Given the description of an element on the screen output the (x, y) to click on. 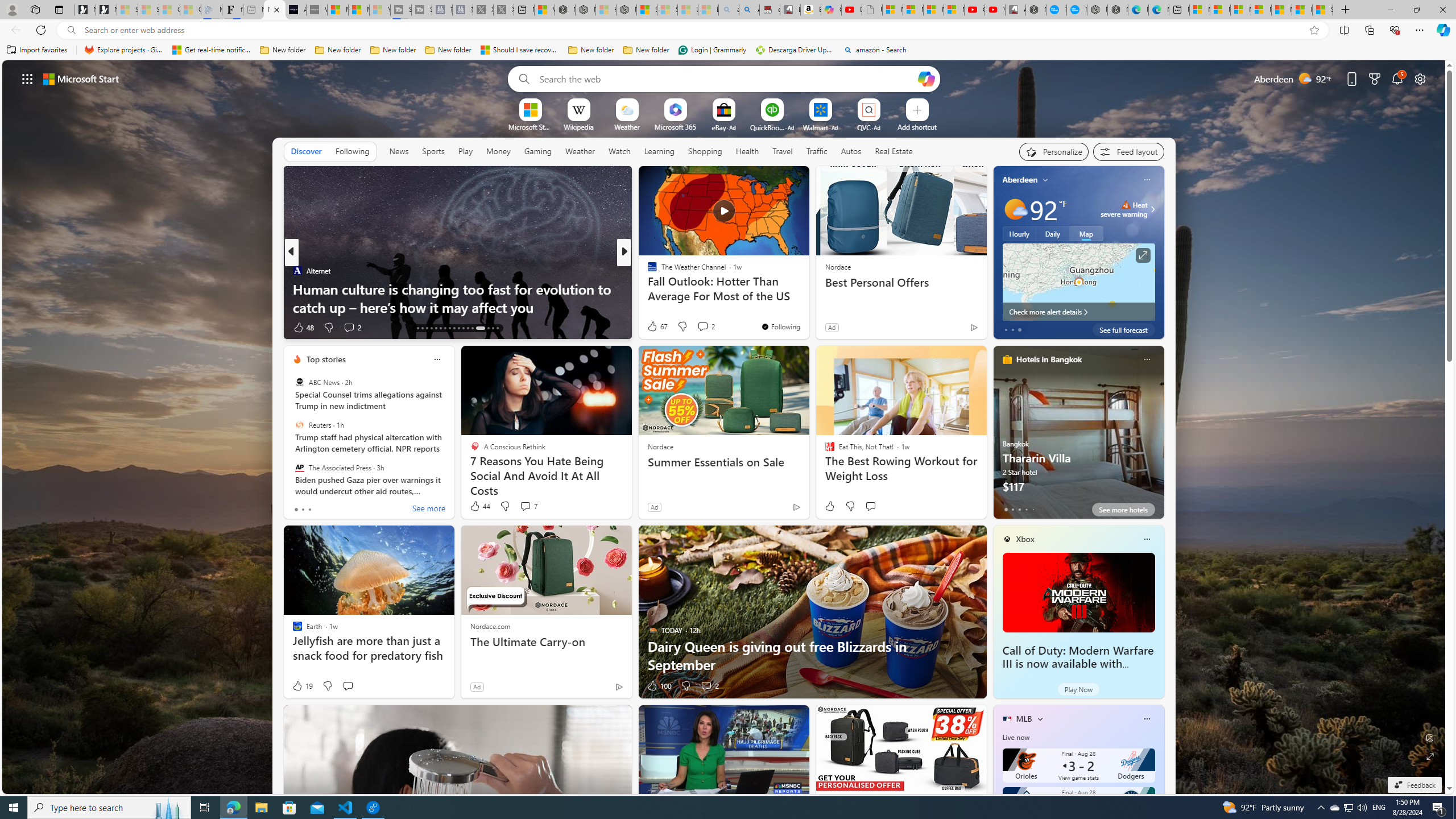
Thararin Villa (1078, 436)
New Tab (1346, 9)
Heat - Severe (1126, 204)
